Given the description of an element on the screen output the (x, y) to click on. 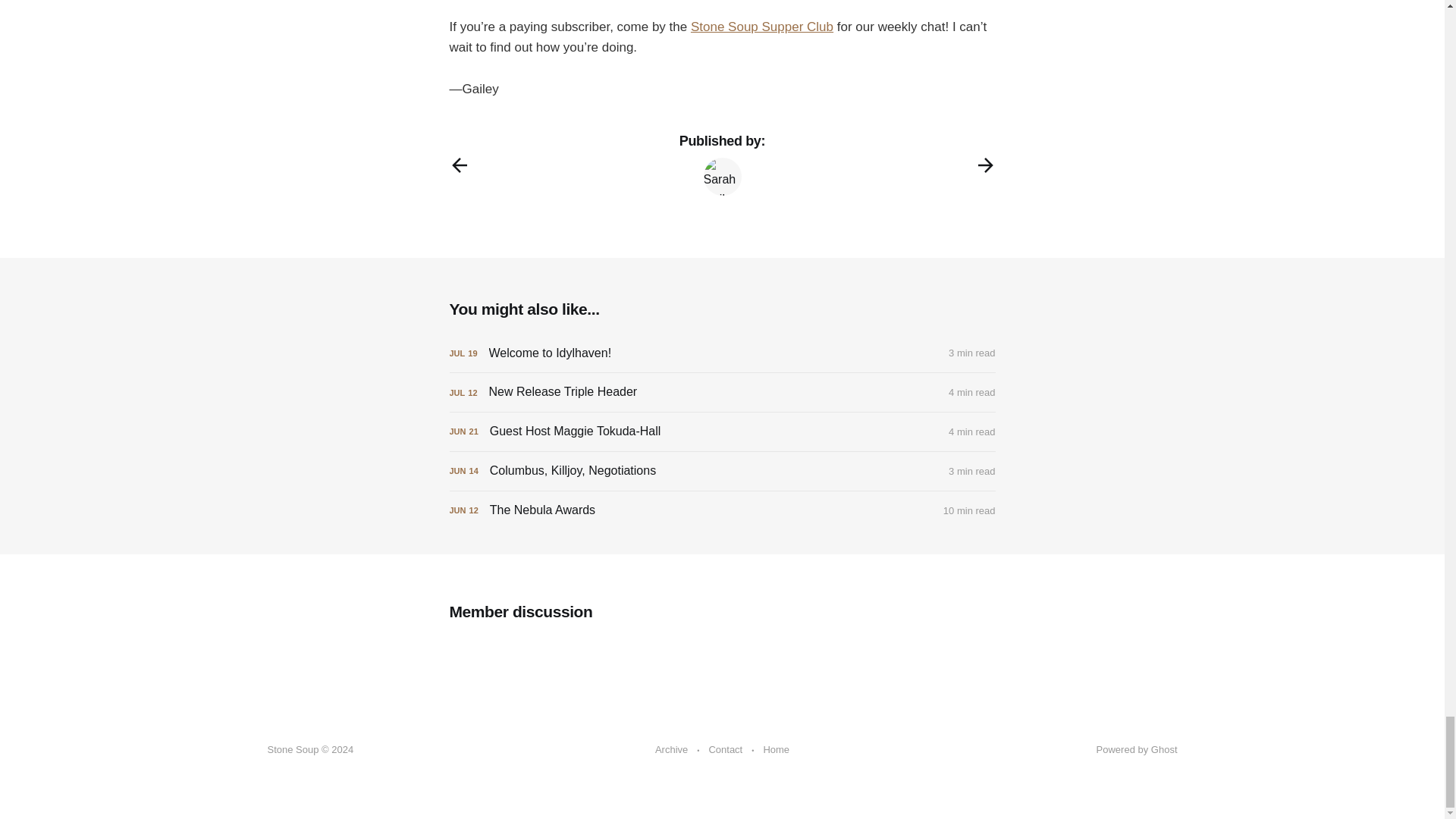
Stone Soup Supper Club (761, 26)
